Given the description of an element on the screen output the (x, y) to click on. 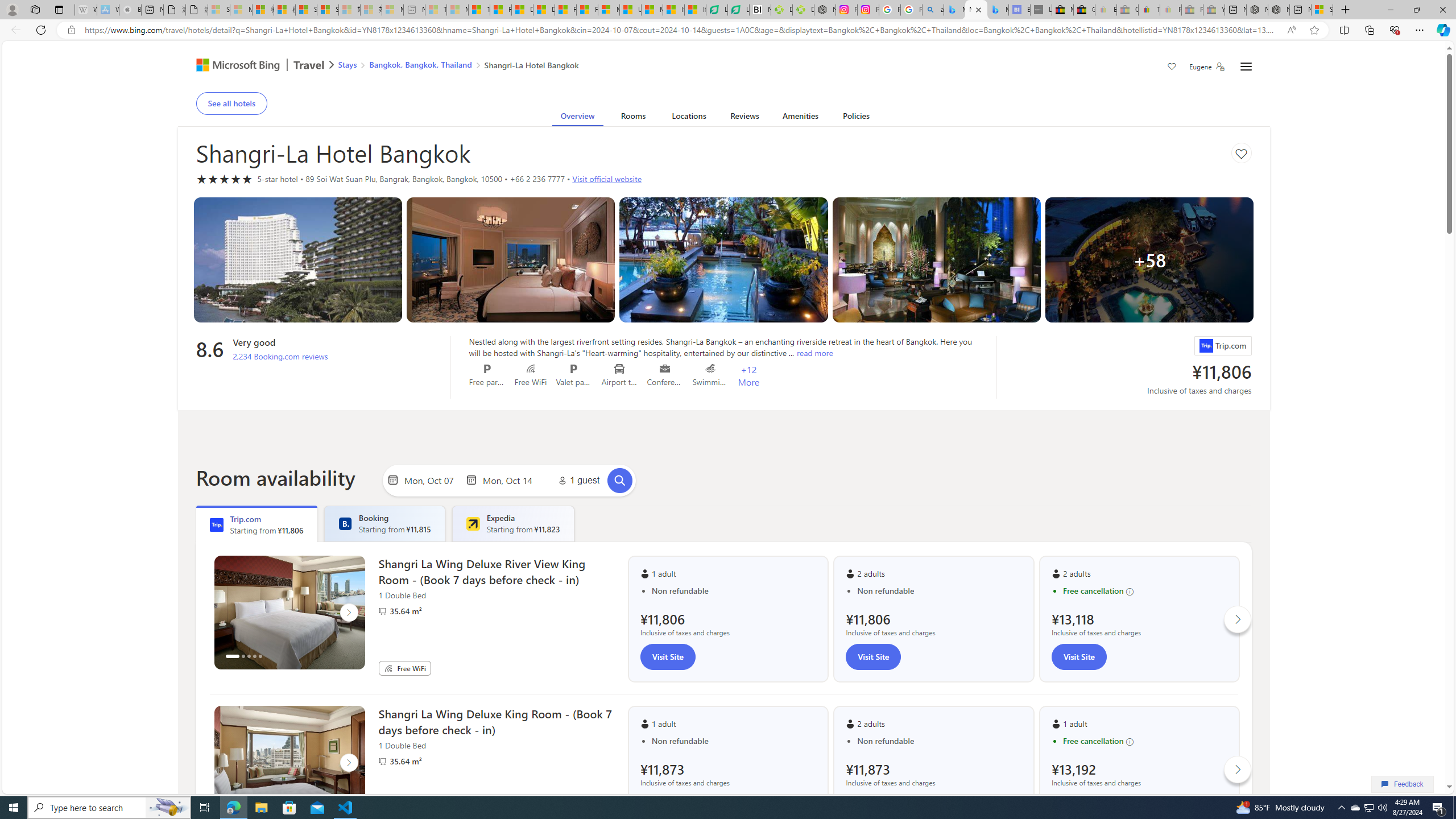
Hotel room image + 58 (1149, 259)
Bangkok, Bangkok, Thailand (420, 64)
